Given the description of an element on the screen output the (x, y) to click on. 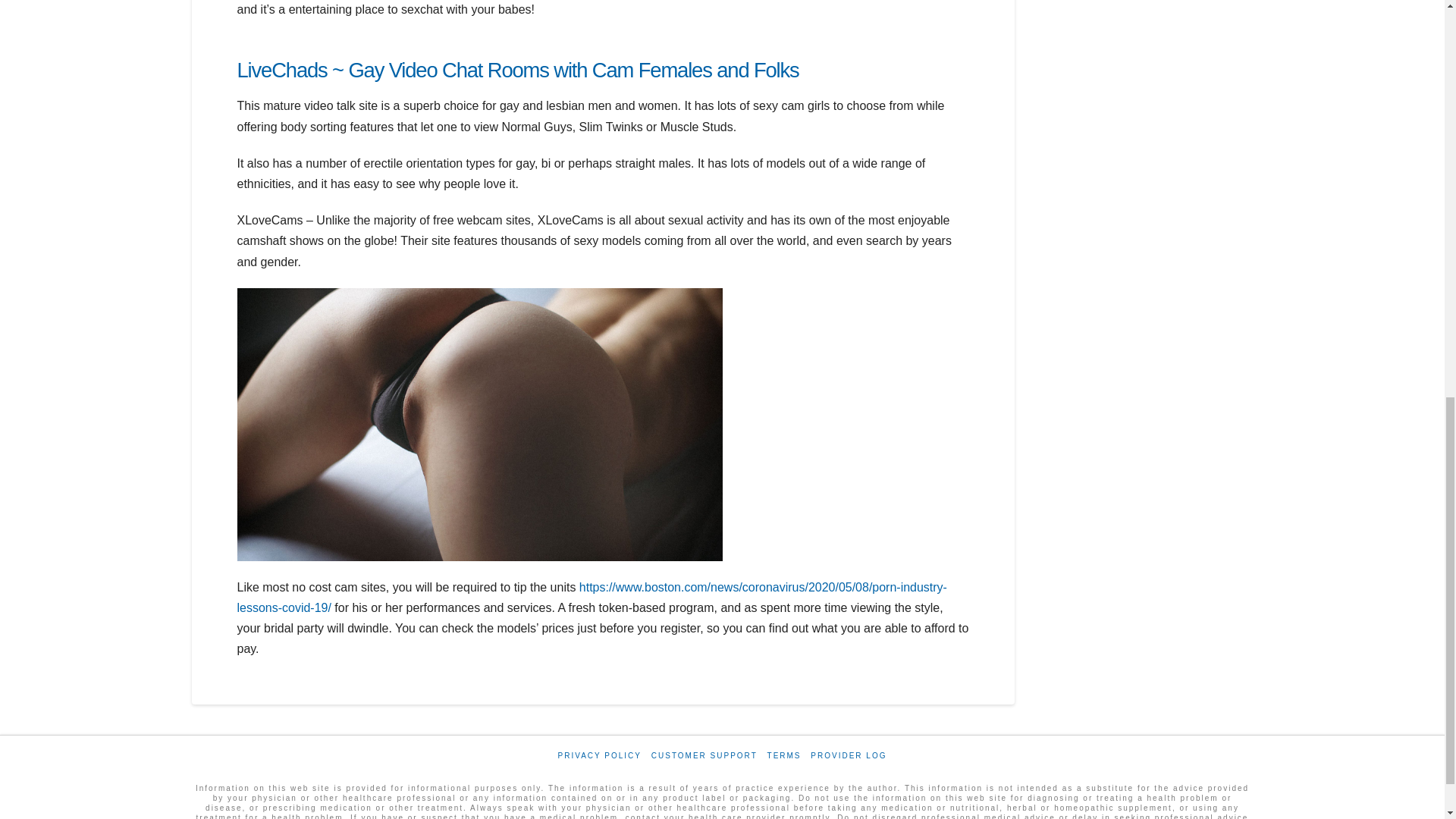
PROVIDER LOG (848, 755)
PRIVACY POLICY (599, 755)
CUSTOMER SUPPORT (703, 755)
TERMS (784, 755)
